Given the description of an element on the screen output the (x, y) to click on. 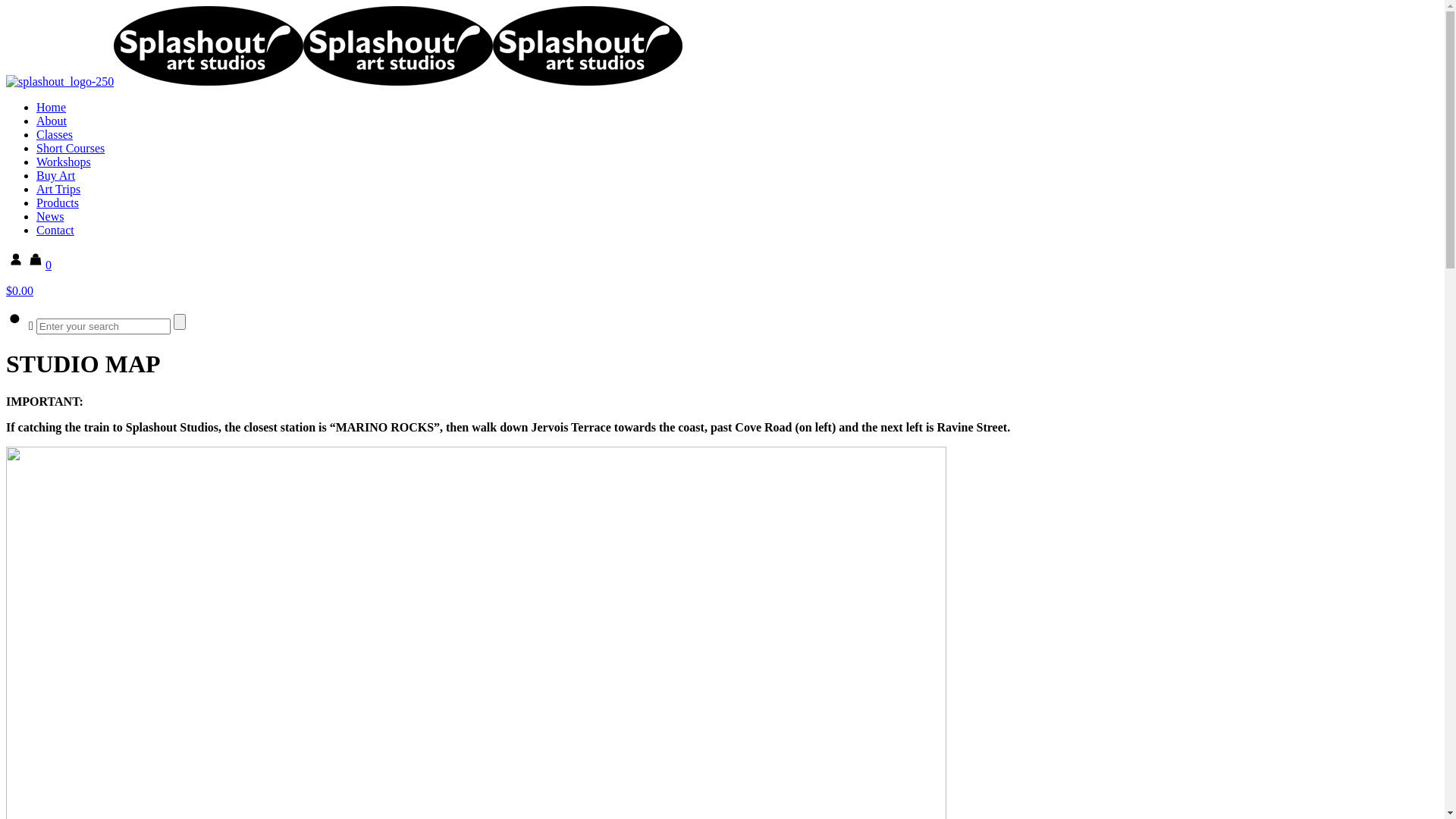
Workshops Element type: text (63, 161)
Buy Art Element type: text (55, 175)
News Element type: text (49, 216)
Short Courses Element type: text (70, 147)
Art Trips Element type: text (58, 188)
About Element type: text (51, 120)
Splashout Art Studios Element type: hover (344, 81)
Products Element type: text (57, 202)
Contact Element type: text (55, 229)
Home Element type: text (50, 106)
0
$0.00 Element type: text (722, 278)
Classes Element type: text (54, 134)
